Given the description of an element on the screen output the (x, y) to click on. 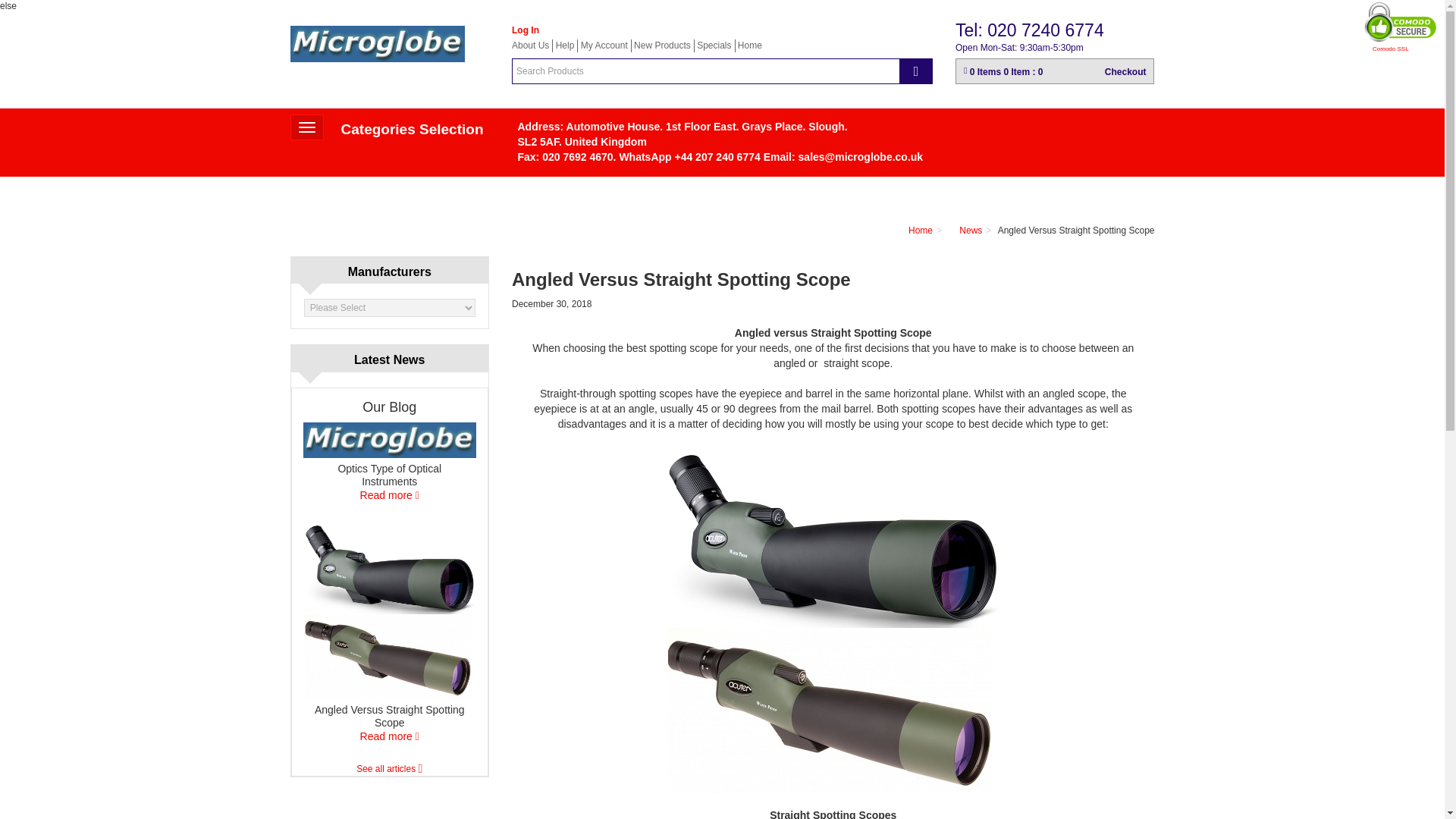
Specials (713, 45)
www.microglobe.co.uk (1054, 71)
Open Mon-Sat: 9:30am-5:30pm (376, 43)
Home (1019, 47)
About Us (749, 45)
Search (530, 45)
My Account (306, 127)
Help (916, 71)
Log In (603, 45)
New Products (565, 45)
